Given the description of an element on the screen output the (x, y) to click on. 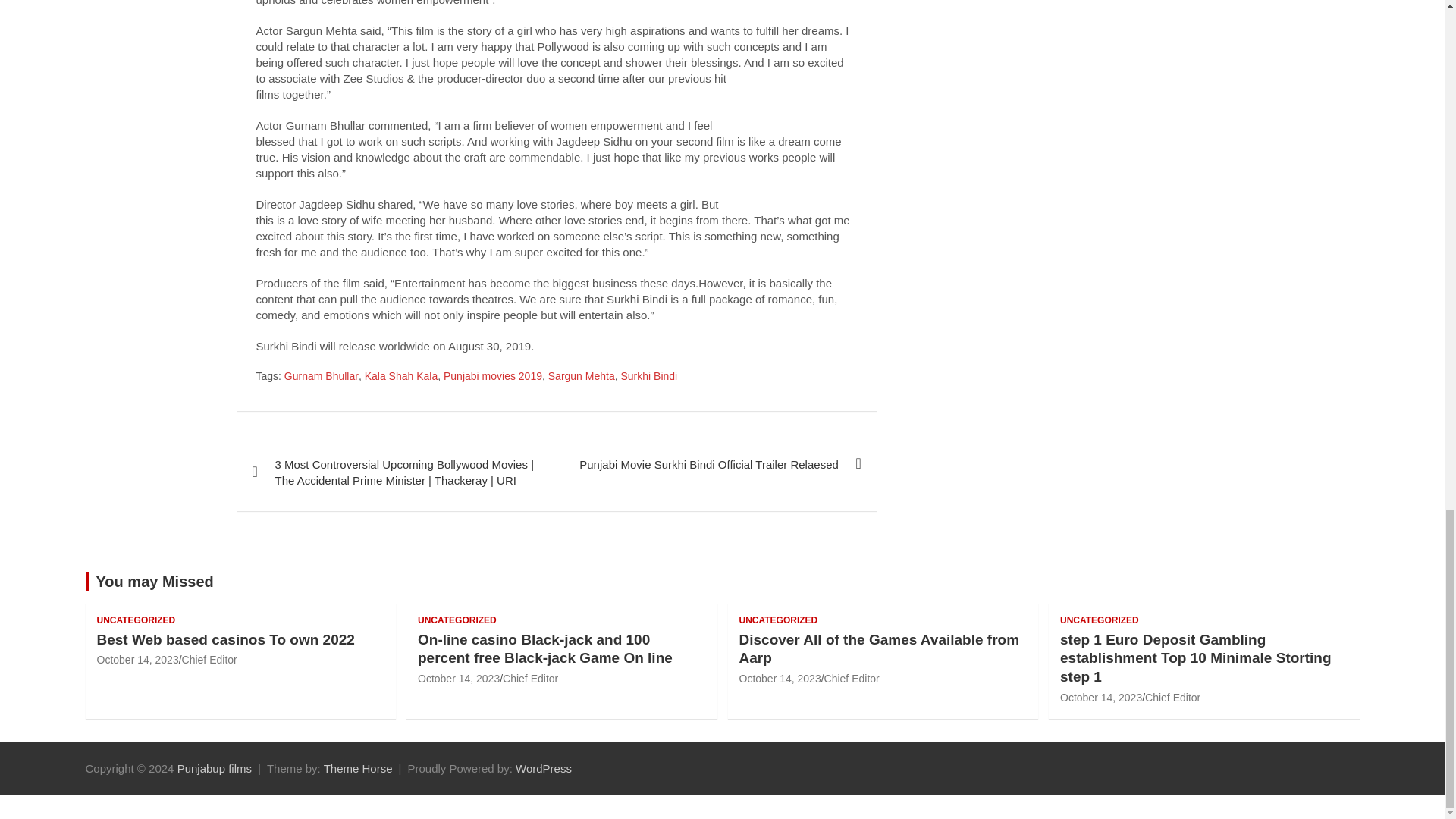
October 14, 2023 (779, 678)
UNCATEGORIZED (777, 620)
October 14, 2023 (458, 678)
Sargun Mehta (581, 376)
Chief Editor (209, 659)
Best Web based casinos To own 2022 (226, 639)
Discover All of the Games Available from Aarp (878, 648)
You may Missed (154, 581)
Punjabi Movie Surkhi Bindi Official Trailer Relaesed (716, 464)
Surkhi Bindi (648, 376)
Gurnam Bhullar (320, 376)
UNCATEGORIZED (456, 620)
Punjabi movies 2019 (492, 376)
